Given the description of an element on the screen output the (x, y) to click on. 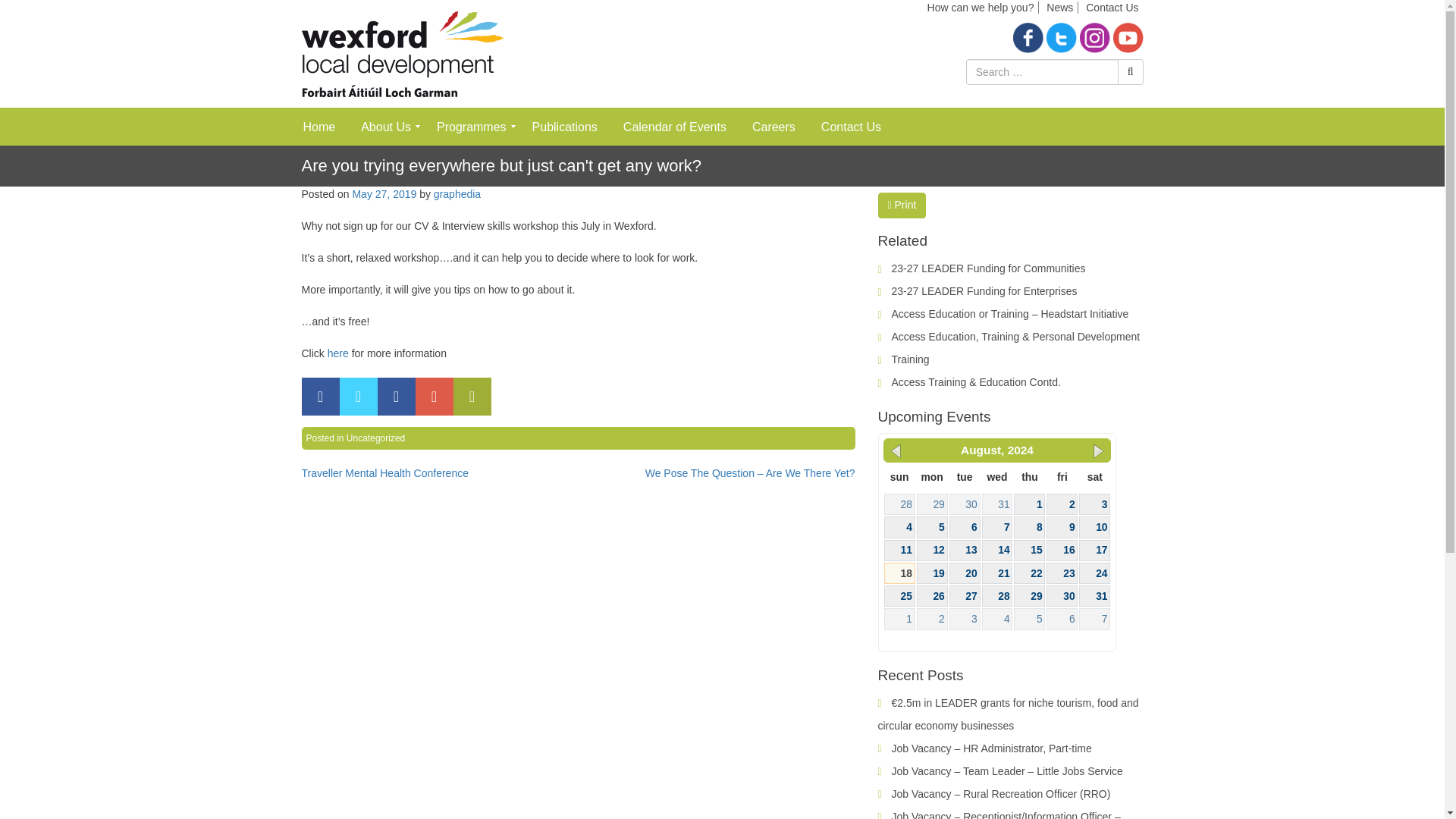
Share by Email (472, 396)
Calendar of Events (674, 126)
Contact Us (850, 126)
Share on Google Plus (433, 396)
Programmes (471, 126)
Share on LinkedIn (395, 396)
Contact Us (1112, 7)
Share on Facebook (320, 396)
Share on Twitter (358, 396)
May 27, 2019 (384, 193)
